Given the description of an element on the screen output the (x, y) to click on. 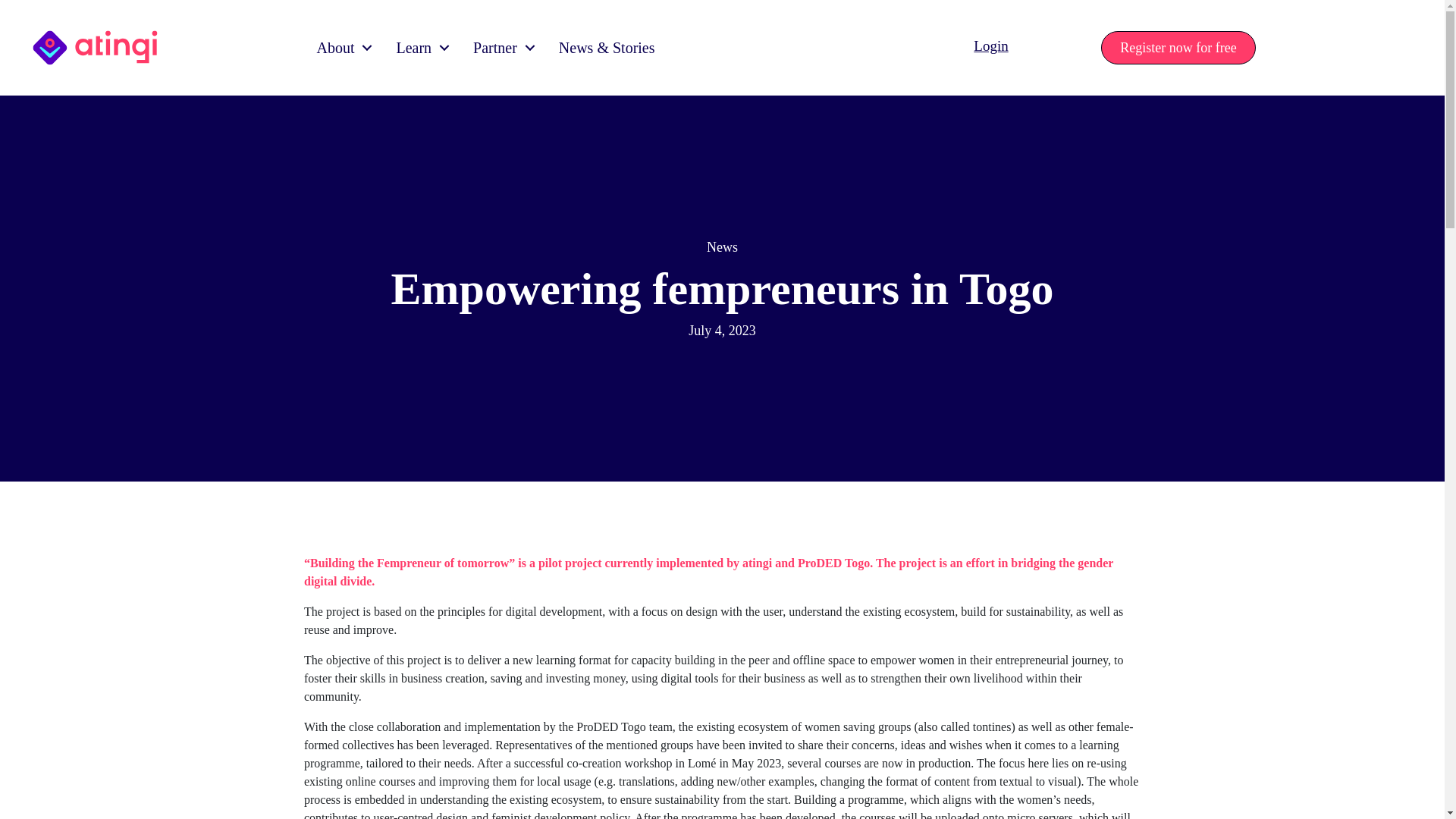
Login (990, 45)
Learn (418, 47)
Partner (500, 47)
Register now for free (1177, 47)
About (340, 47)
atingi-full-colour-logo (95, 47)
